Given the description of an element on the screen output the (x, y) to click on. 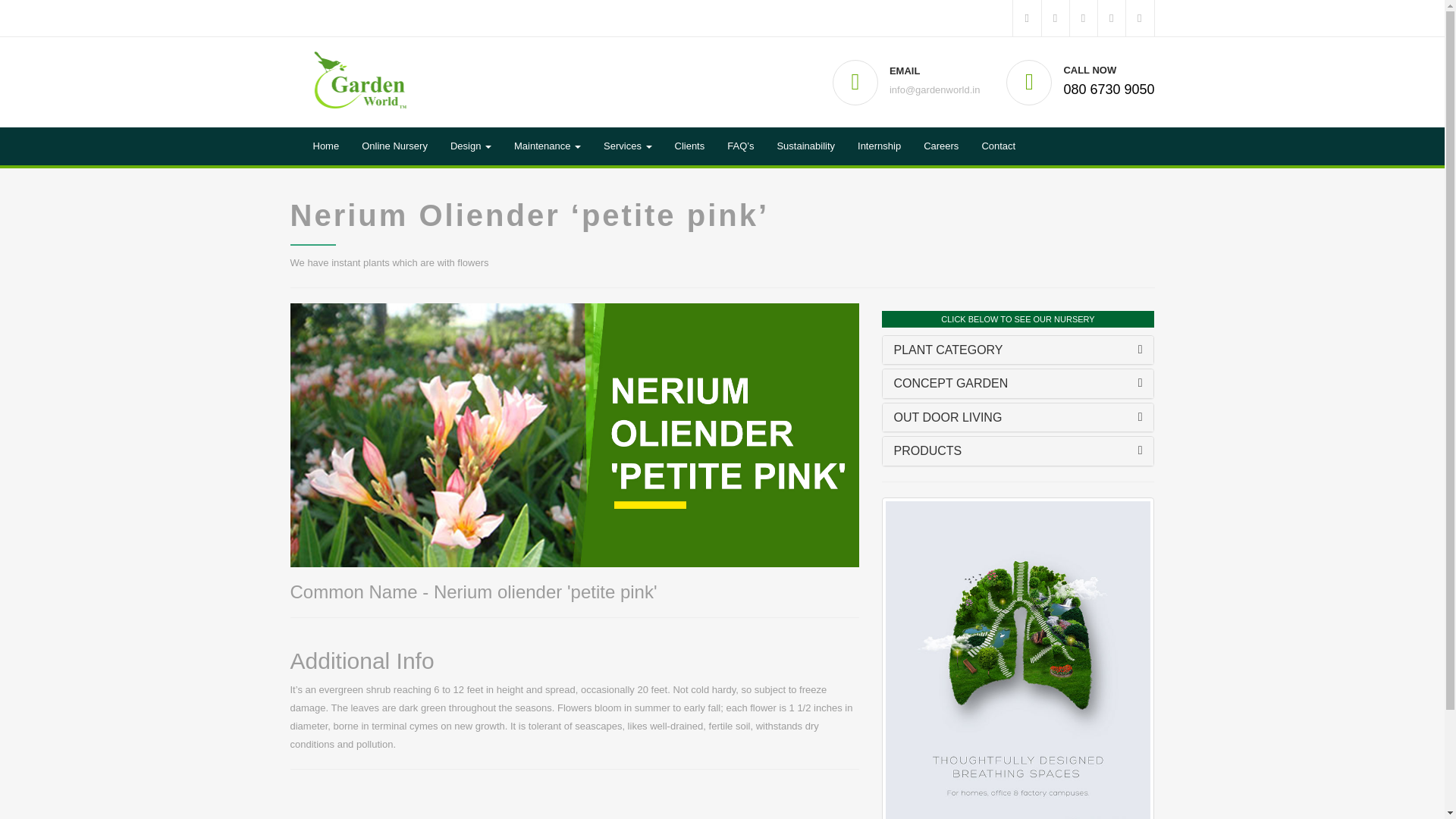
Services (627, 146)
Contact (997, 146)
Home (325, 146)
Sustainability (805, 146)
PLANT CATEGORY (948, 349)
Online Nursery (394, 146)
Careers (940, 146)
Internship (878, 146)
Maintenance (547, 146)
Design (470, 146)
